Given the description of an element on the screen output the (x, y) to click on. 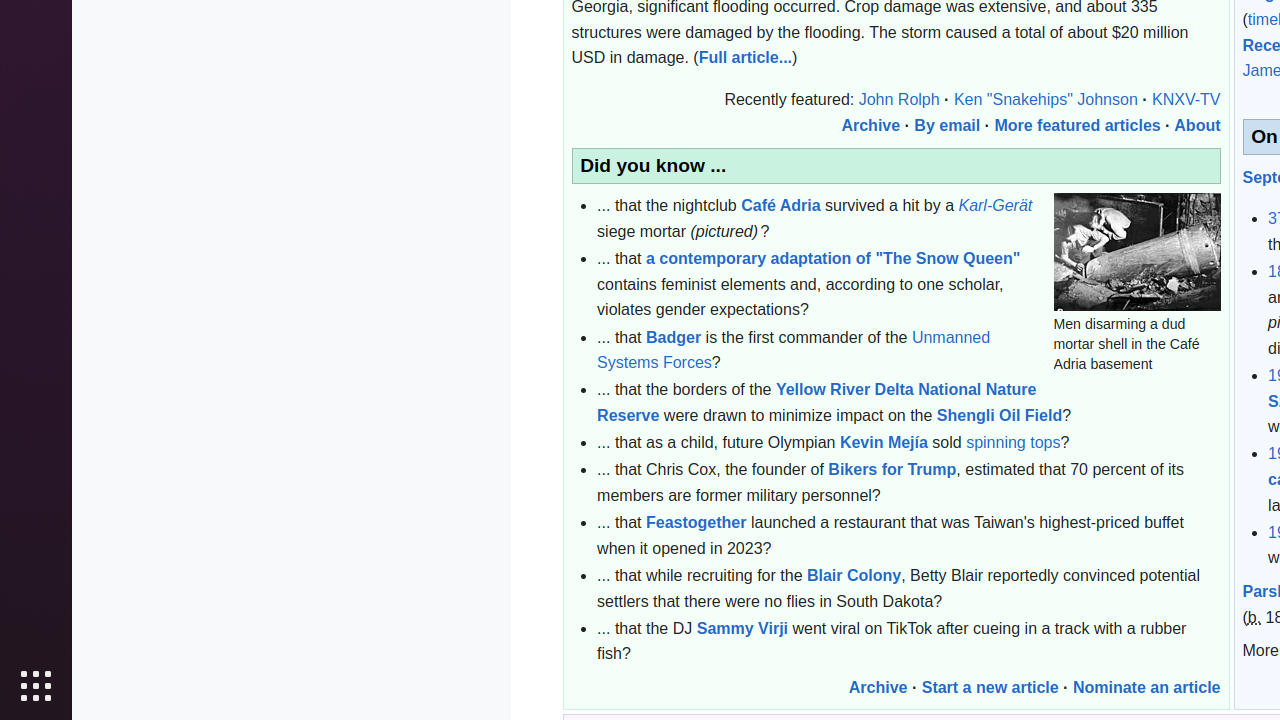
Archive Element type: link (871, 125)
Show Applications Element type: toggle-button (36, 686)
Men disarming a dud mortar shell in the Café Adria basement Element type: link (1137, 252)
Start a new article Element type: link (990, 687)
By email Element type: link (947, 125)
